Given the description of an element on the screen output the (x, y) to click on. 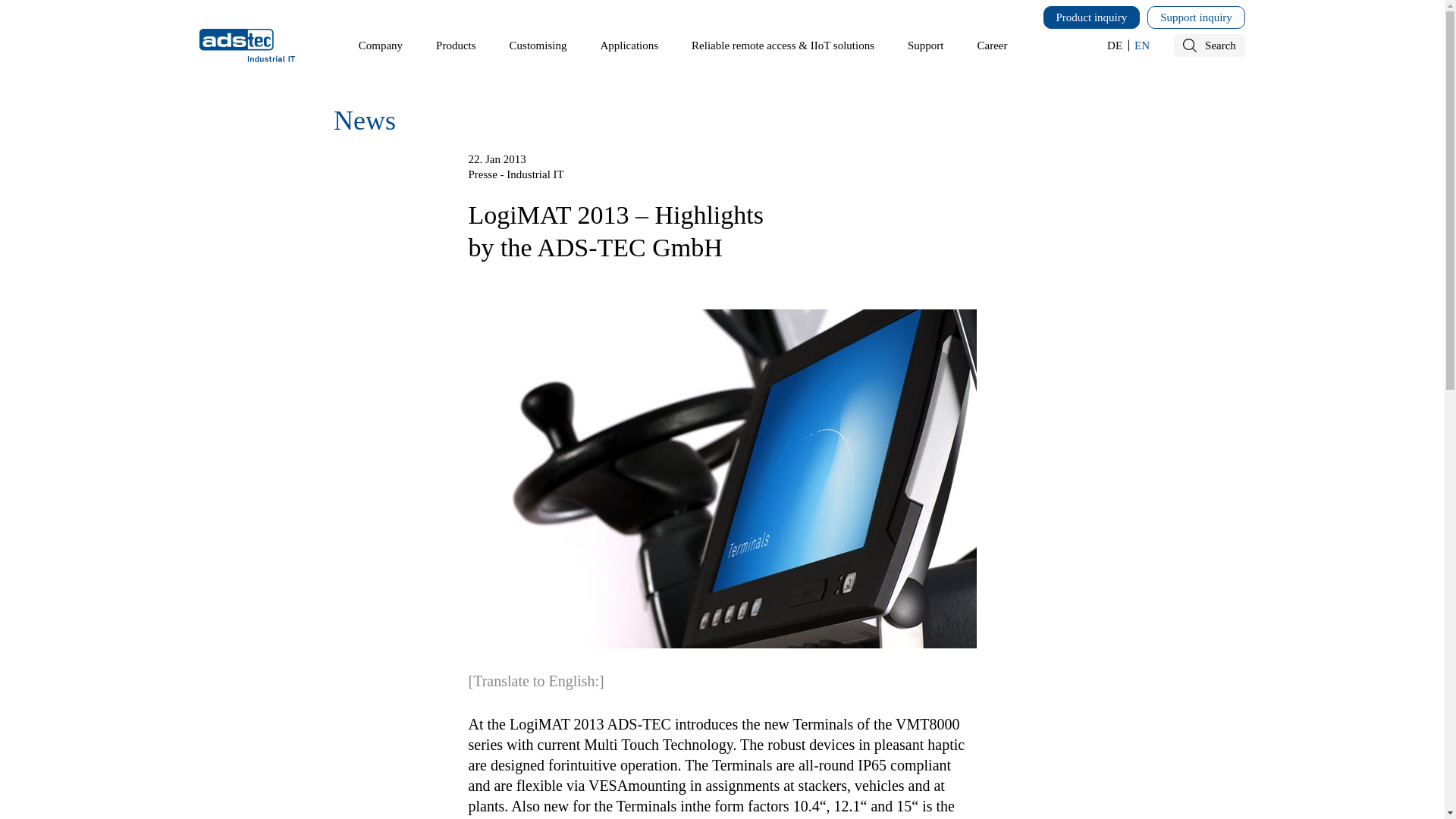
Customising (538, 45)
Company (380, 45)
Product inquiry (1091, 16)
Applications (628, 45)
Products (455, 45)
Support inquiry (1195, 16)
